Given the description of an element on the screen output the (x, y) to click on. 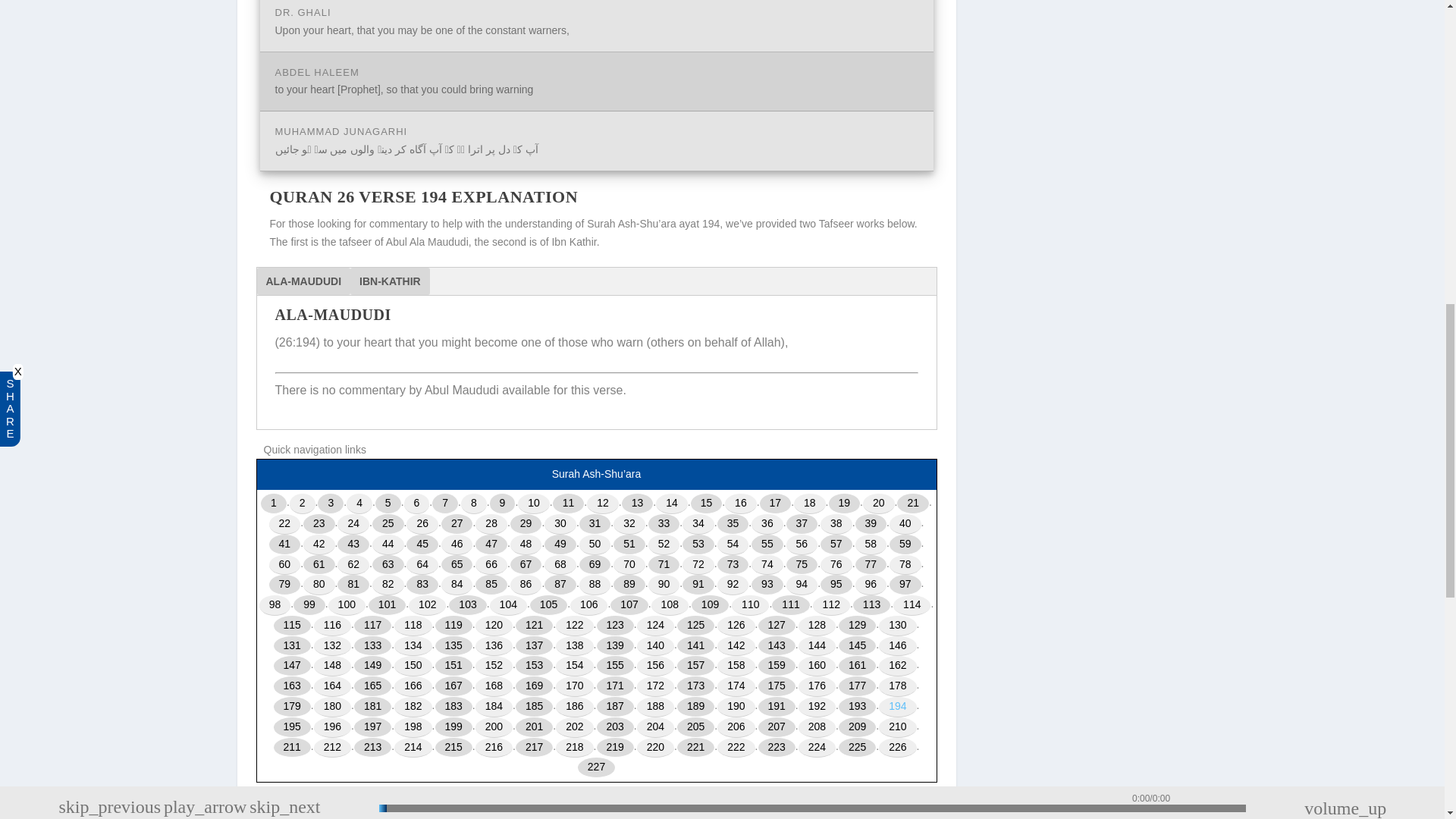
4 (359, 503)
9 (502, 503)
3 (330, 503)
8 (473, 503)
5 (388, 503)
ALA-MAUDUDI (303, 280)
1 (273, 503)
10 (534, 503)
6 (416, 503)
7 (445, 503)
2 (302, 503)
11 (569, 503)
IBN-KATHIR (389, 280)
